Given the description of an element on the screen output the (x, y) to click on. 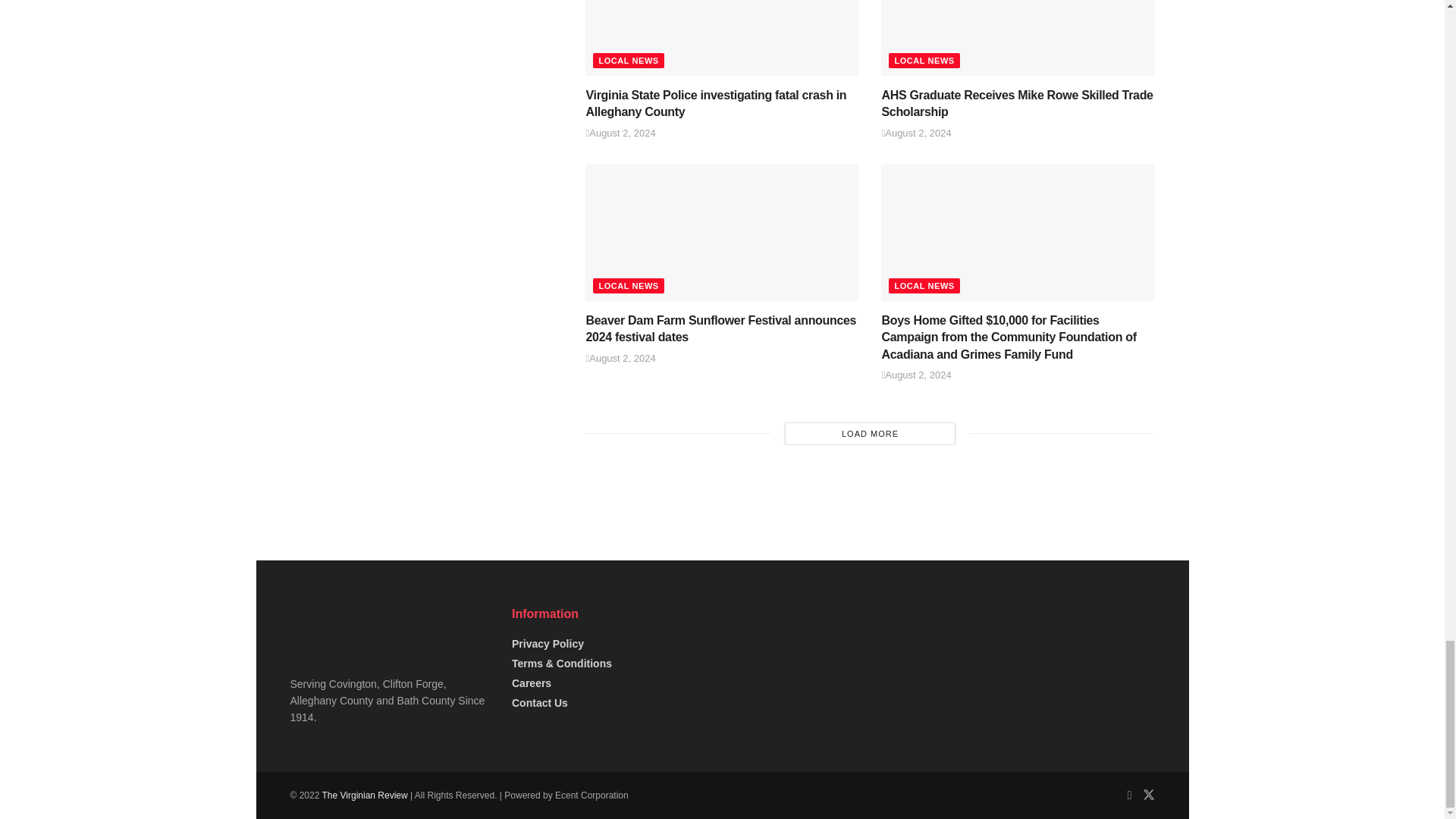
The Virginian Review (364, 795)
